Given the description of an element on the screen output the (x, y) to click on. 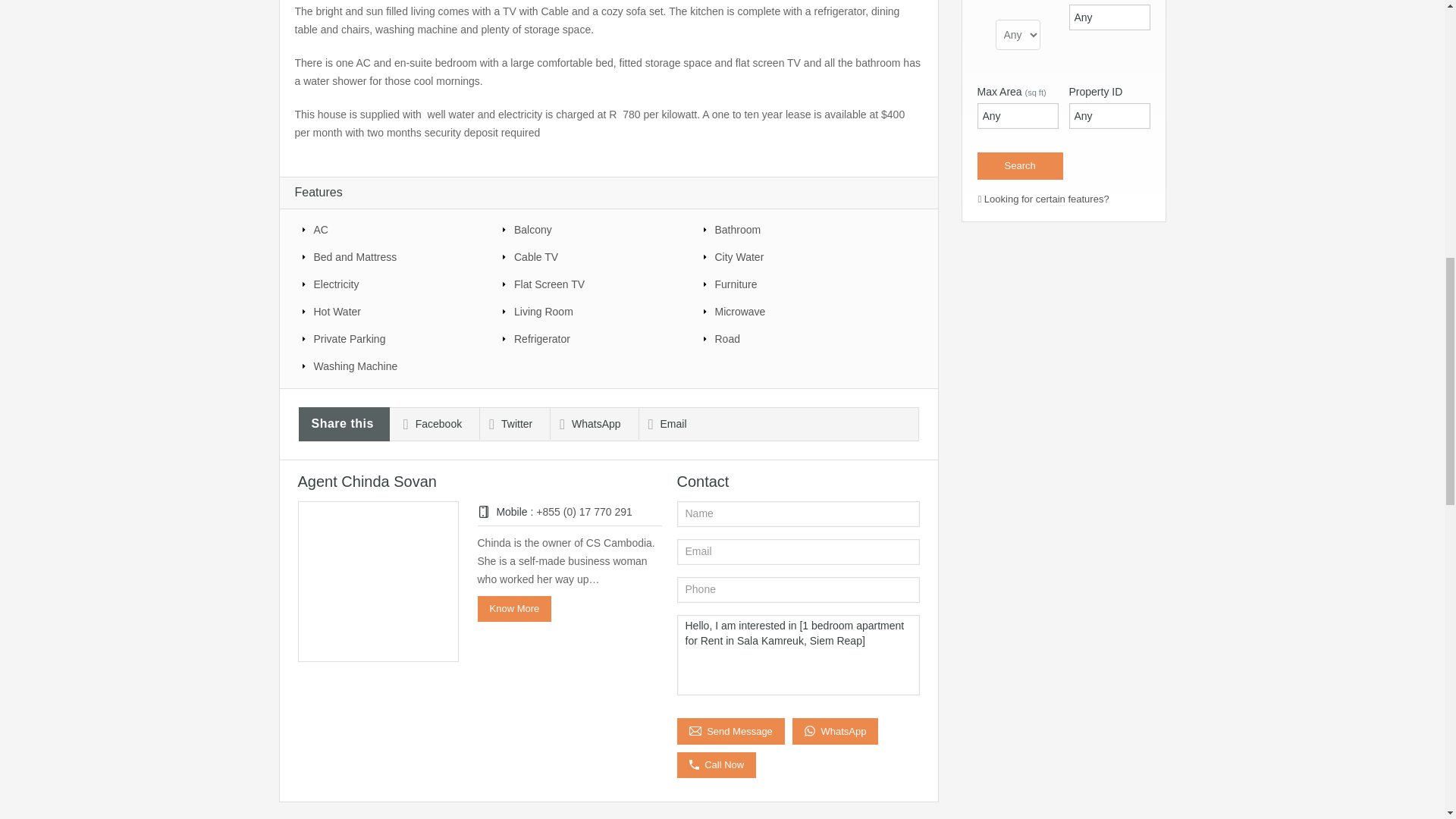
Balcony (592, 229)
Bathroom (793, 229)
Only provide digits! (1109, 17)
Bed and Mattress (393, 257)
Search (1019, 165)
Only provide digits! (1017, 115)
AC (393, 229)
Cable TV (592, 257)
